Given the description of an element on the screen output the (x, y) to click on. 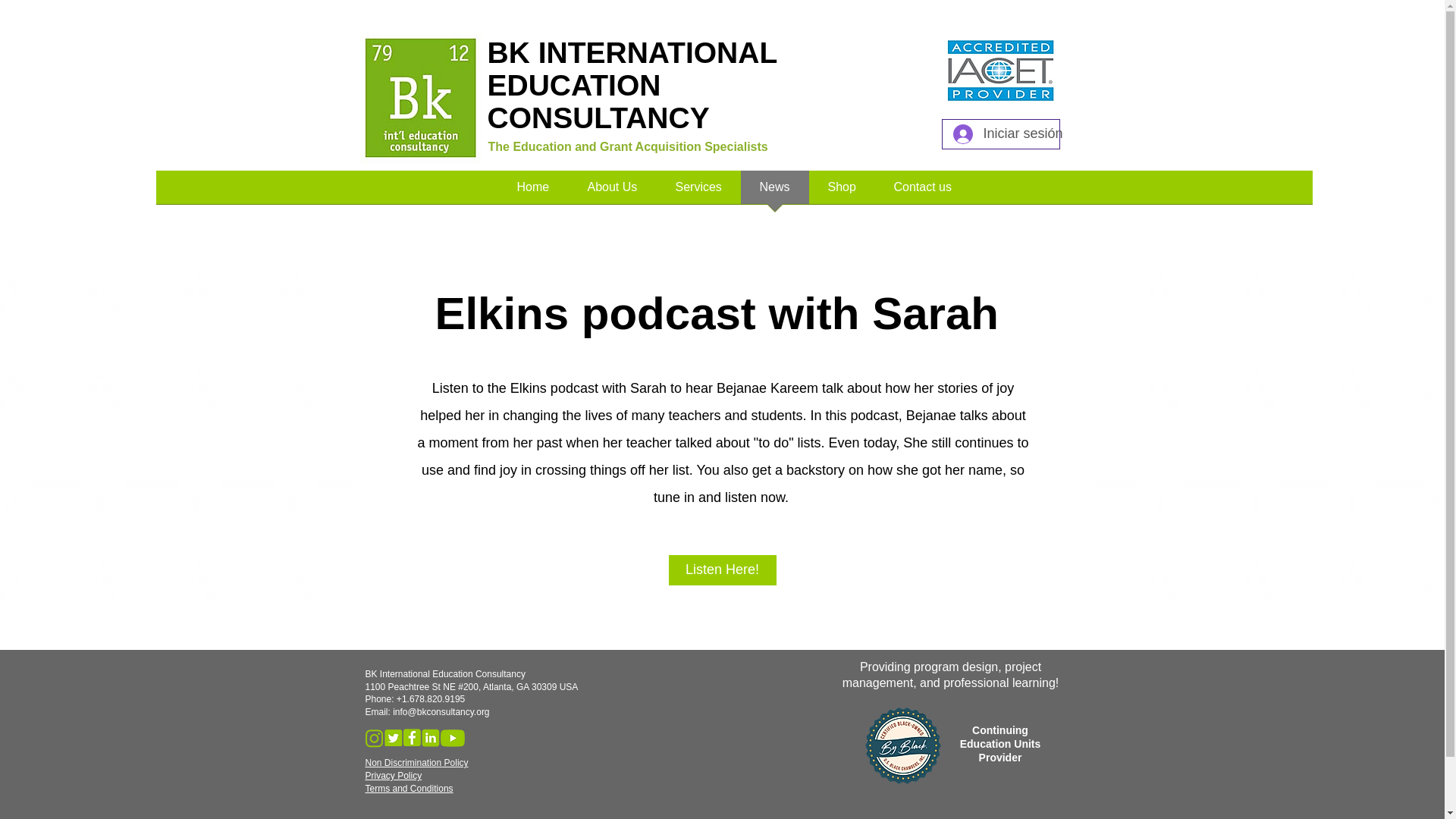
Listen Here! (722, 570)
News (773, 191)
Shop (841, 191)
Non Discrimination Policy (416, 762)
byblack-badge.jpg (901, 743)
BK Logo.svg (419, 97)
About Us (612, 191)
Home (532, 191)
Terms and Conditions (408, 787)
Contact us (923, 191)
